Given the description of an element on the screen output the (x, y) to click on. 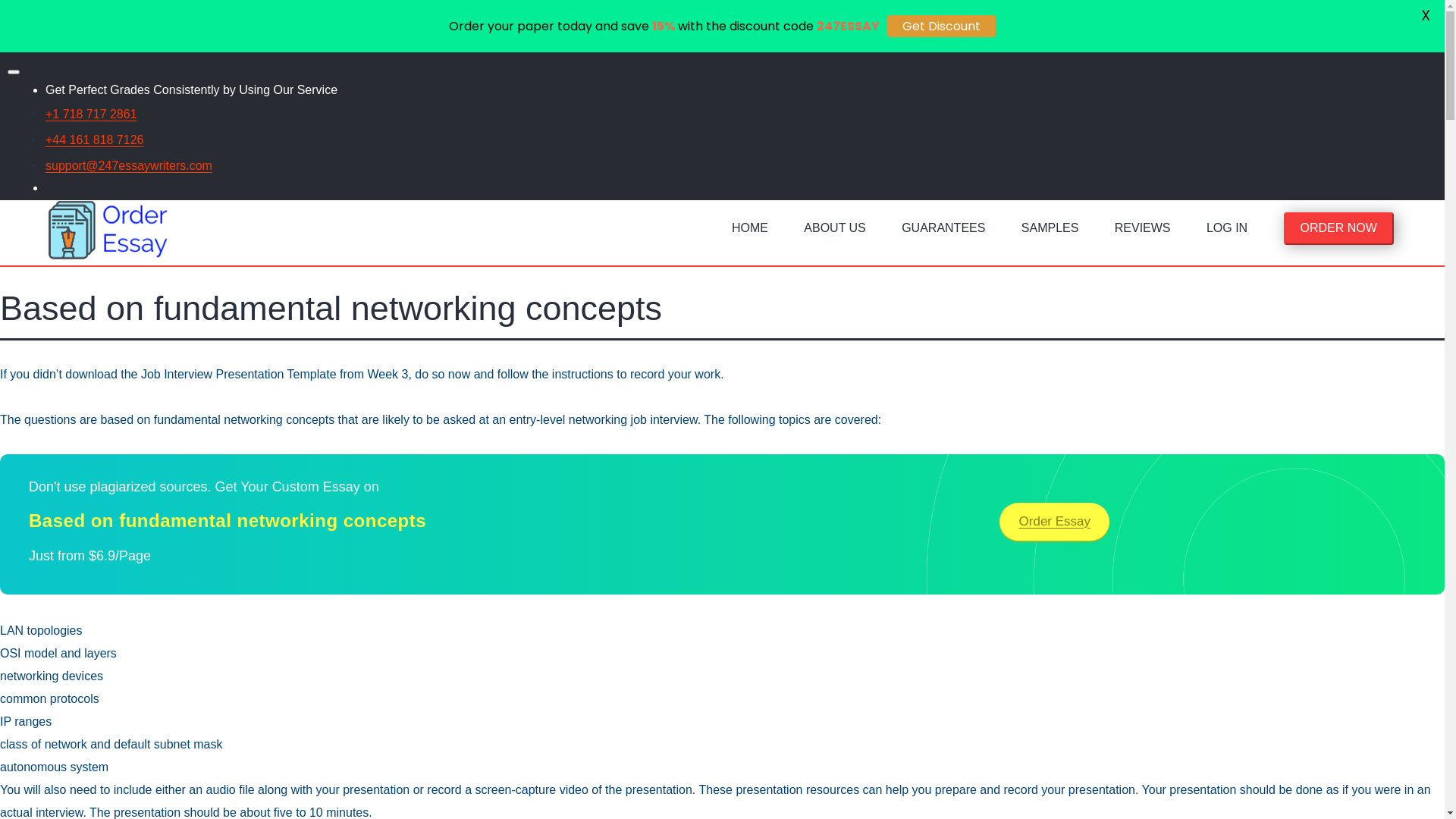
support@247essaywriters.com Element type: text (128, 165)
ABOUT US Element type: text (834, 232)
GUARANTEES Element type: text (943, 232)
Order Essay Element type: text (1054, 521)
+44 161 818 7126 Element type: text (94, 139)
SAMPLES Element type: text (1049, 232)
LOG IN Element type: text (1227, 232)
ORDER NOW Element type: text (1338, 232)
Get Discount Element type: text (941, 26)
+1 718 717 2861 Element type: text (91, 113)
REVIEWS Element type: text (1142, 232)
ORDER NOW Element type: text (1338, 227)
Get Perfect Grades Consistently by Using Our Service Element type: text (191, 89)
HOME Element type: text (749, 232)
